Given the description of an element on the screen output the (x, y) to click on. 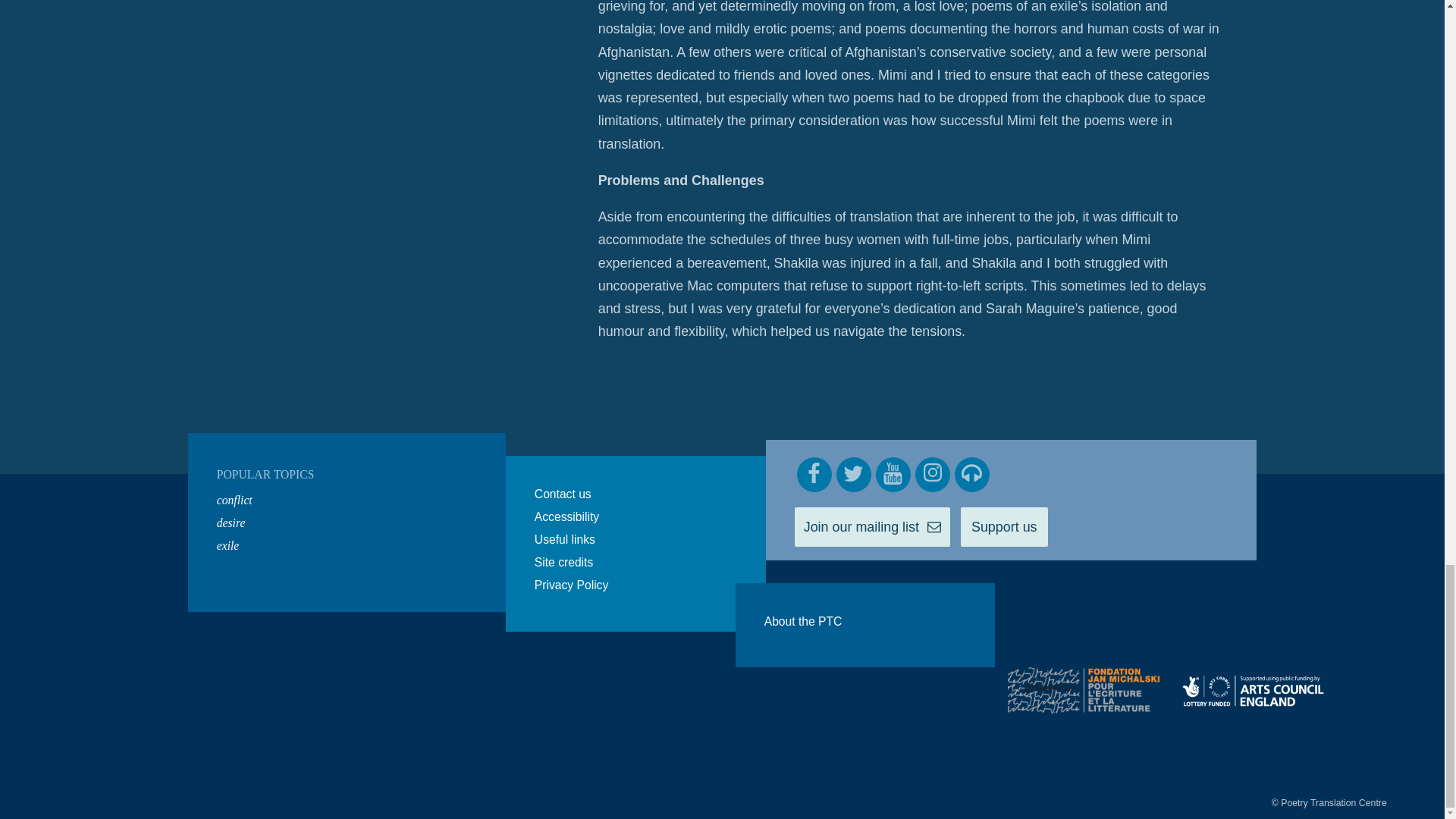
twitter (852, 474)
Instagram (932, 474)
iTunes (972, 474)
youTube (893, 474)
facebook (813, 474)
